Given the description of an element on the screen output the (x, y) to click on. 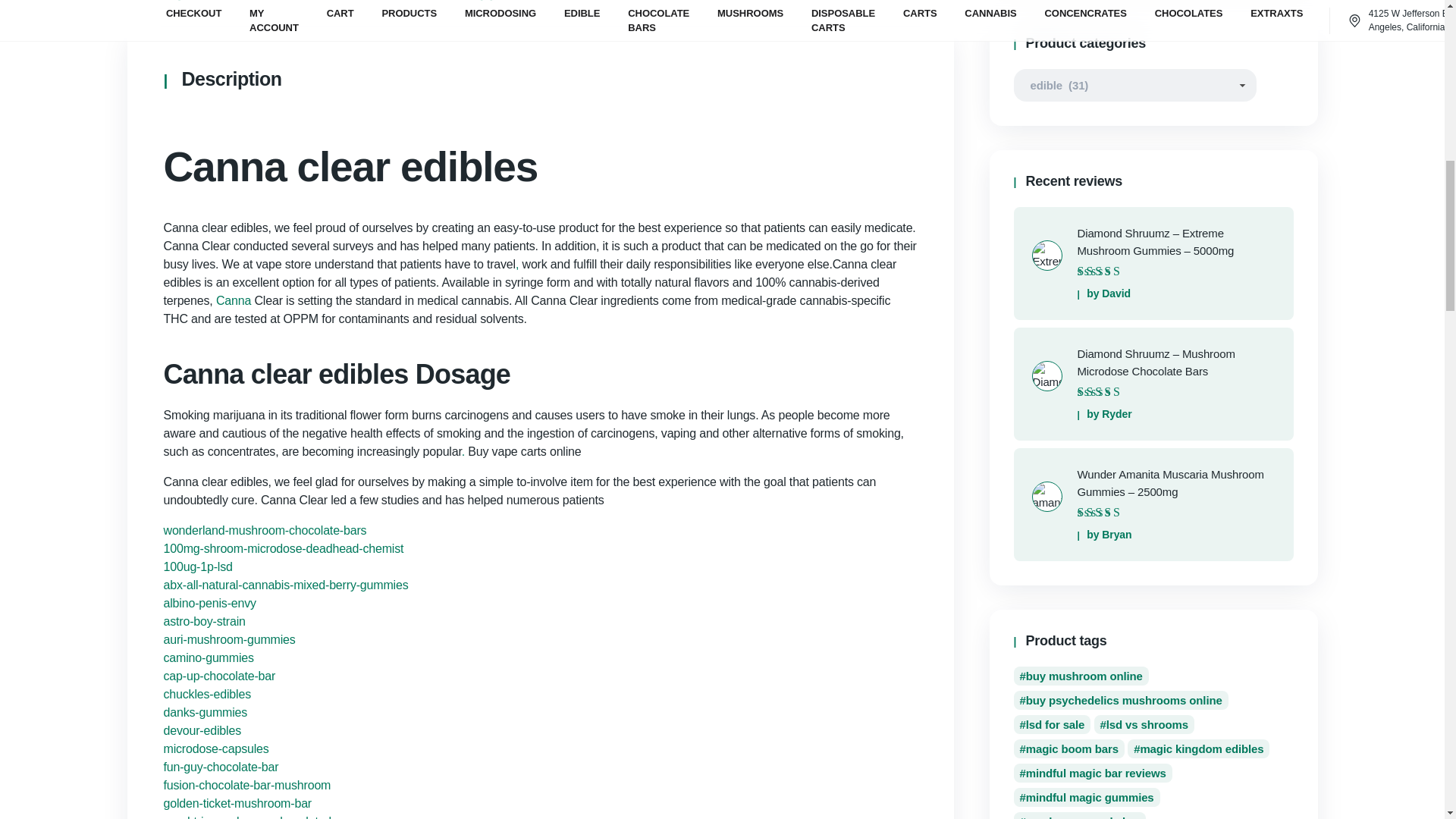
100mg-shroom-microdose-deadhead-chemist (283, 548)
Additional information (314, 7)
Canna (232, 300)
wonderland-mushroom-chocolate-bars (264, 530)
Description (173, 7)
